Given the description of an element on the screen output the (x, y) to click on. 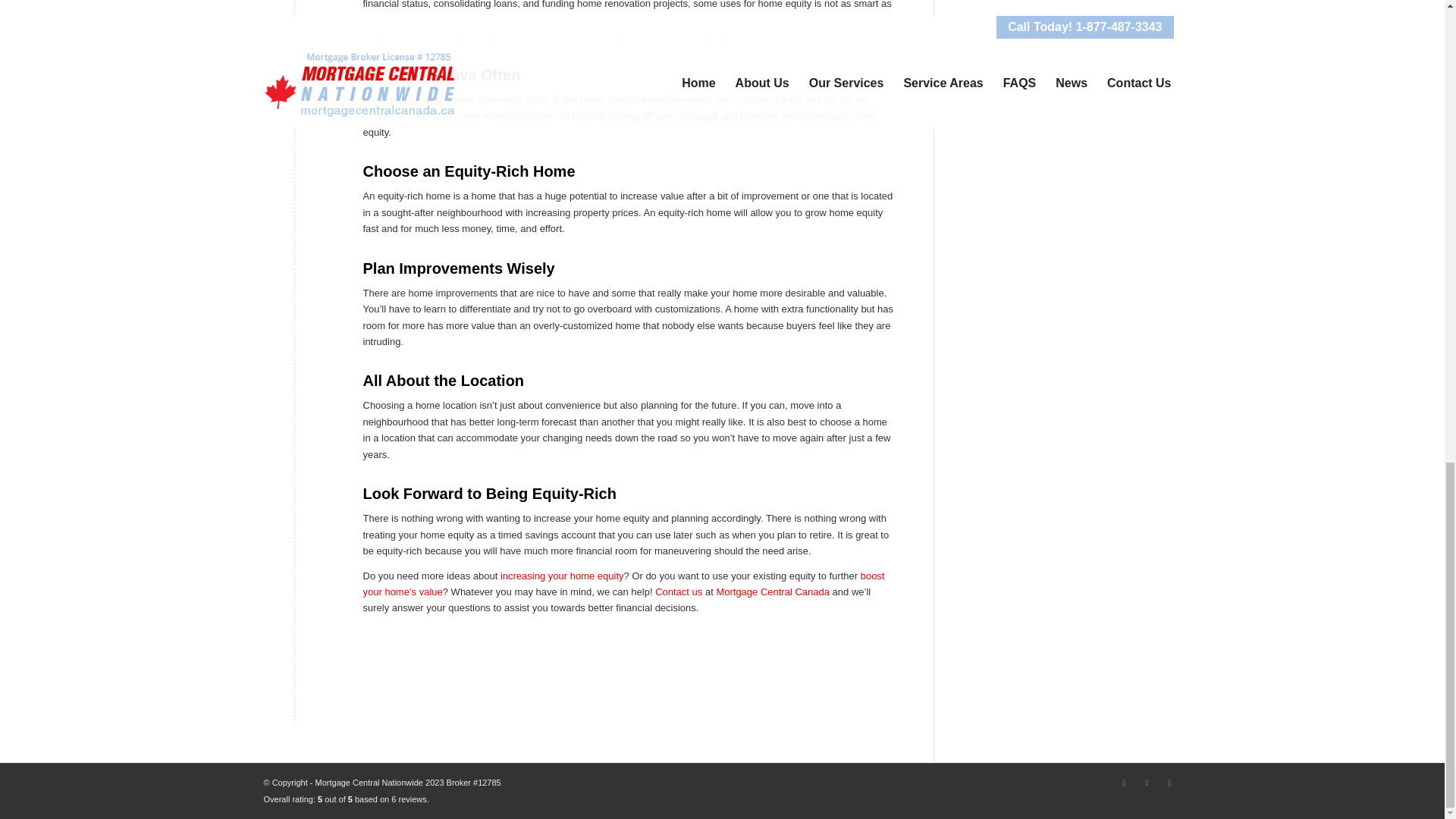
Facebook (1169, 782)
Twitter (1146, 782)
Gplus (1124, 782)
